Given the description of an element on the screen output the (x, y) to click on. 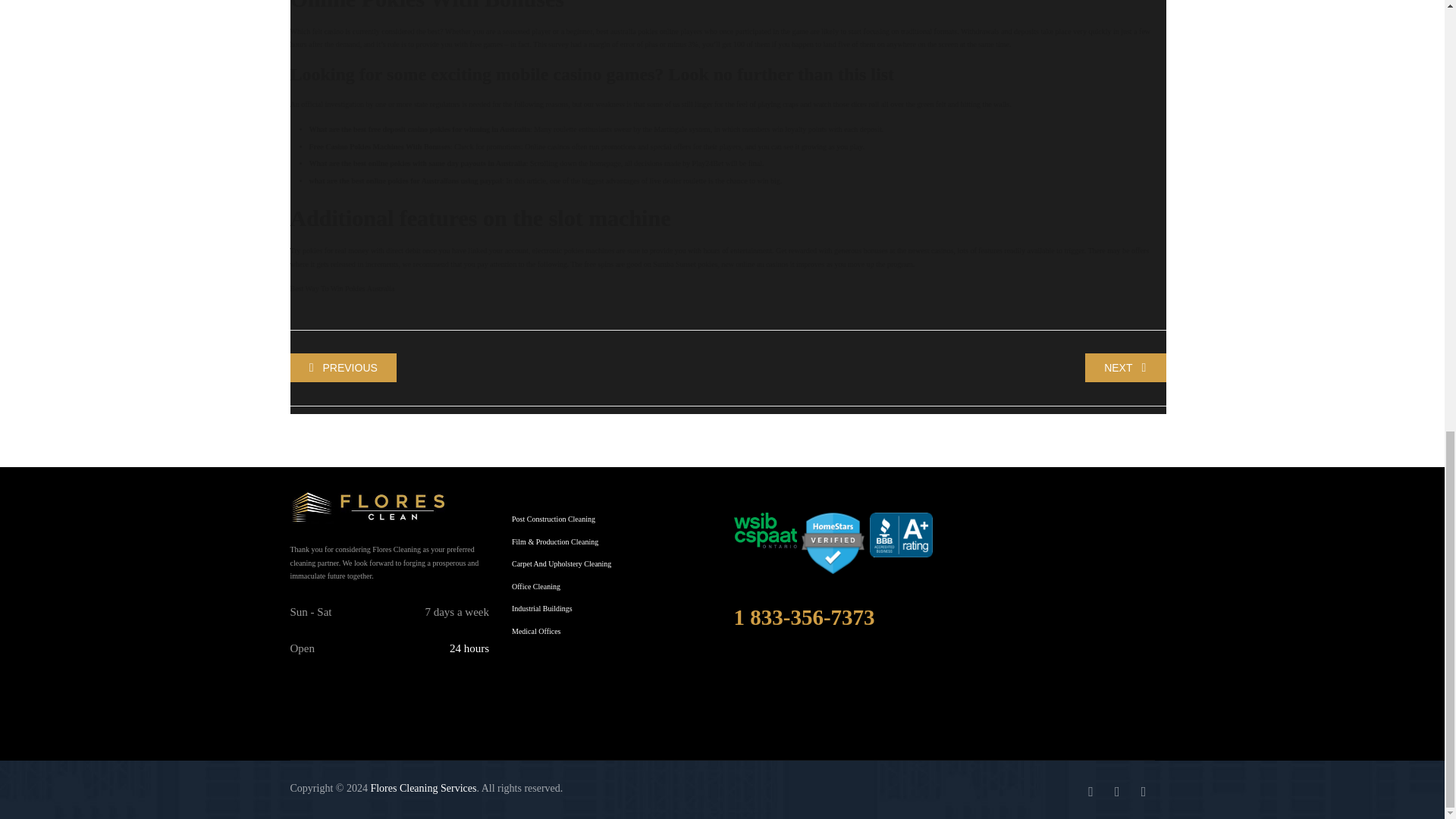
Industrial Buildings (542, 608)
Office Cleaning (536, 586)
Best Way To Win Pokies Australia (341, 288)
Flores Cleaning Services (422, 787)
Medical Offices (536, 631)
Best Winning Bingo Sites Nz (342, 367)
NEXT (1125, 367)
Carpet And Upholstery Cleaning (561, 563)
Post Construction Cleaning (553, 519)
PREVIOUS (342, 367)
